Given the description of an element on the screen output the (x, y) to click on. 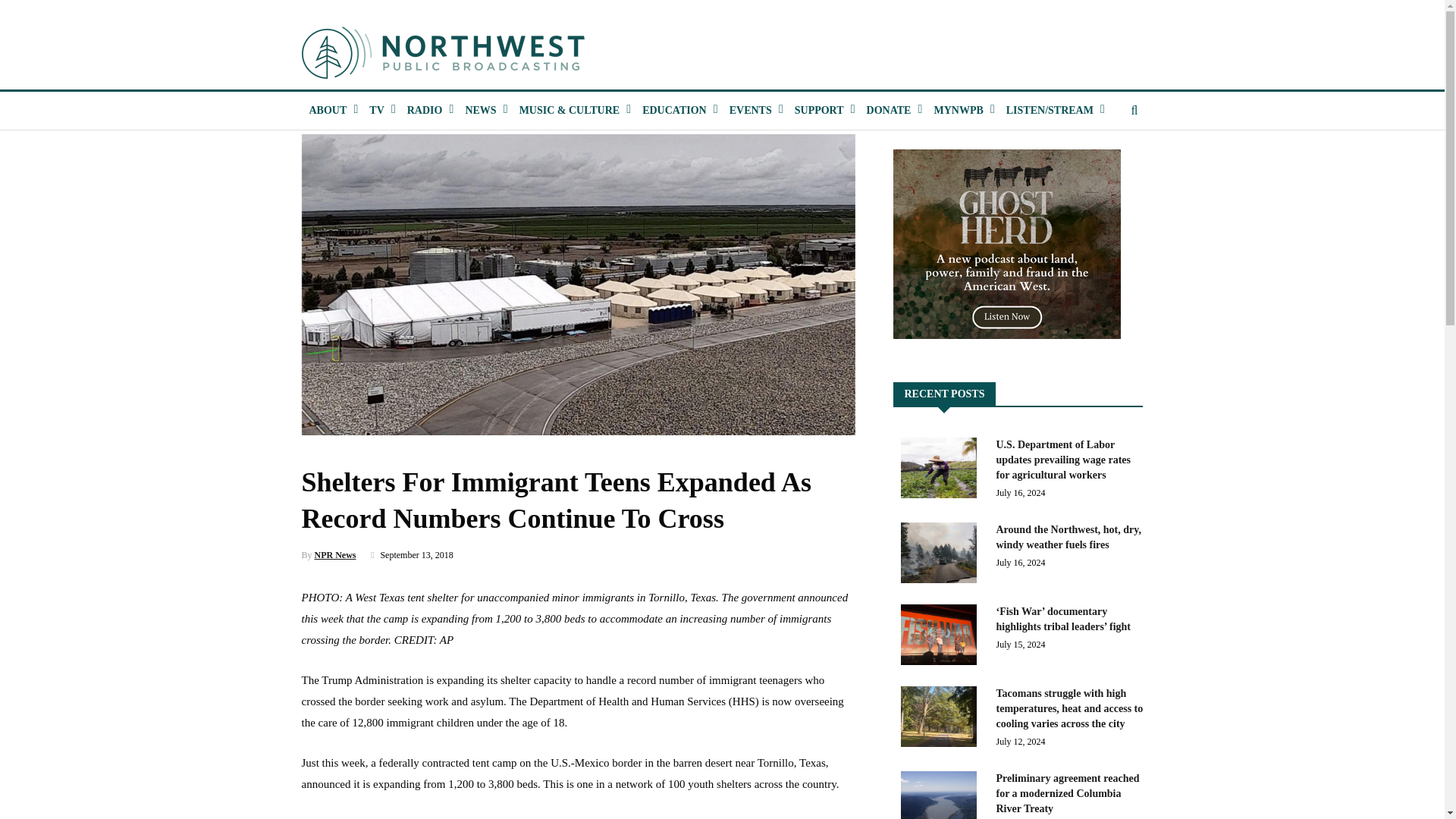
logo (443, 52)
NEWS (479, 110)
Donate Button (889, 110)
ABOUT (327, 110)
RADIO (425, 110)
TV (376, 110)
